Given the description of an element on the screen output the (x, y) to click on. 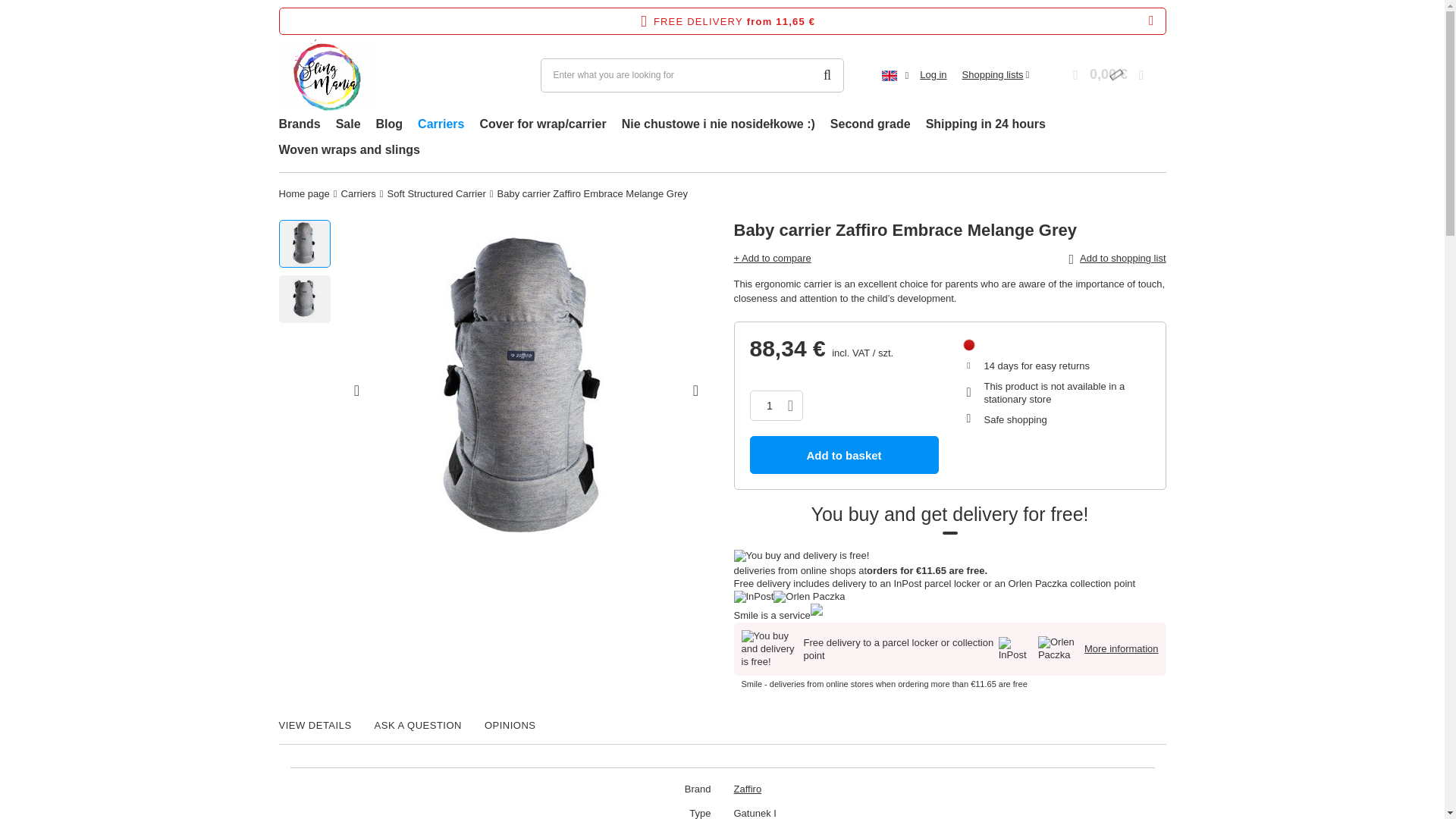
Brands (299, 125)
